Given the description of an element on the screen output the (x, y) to click on. 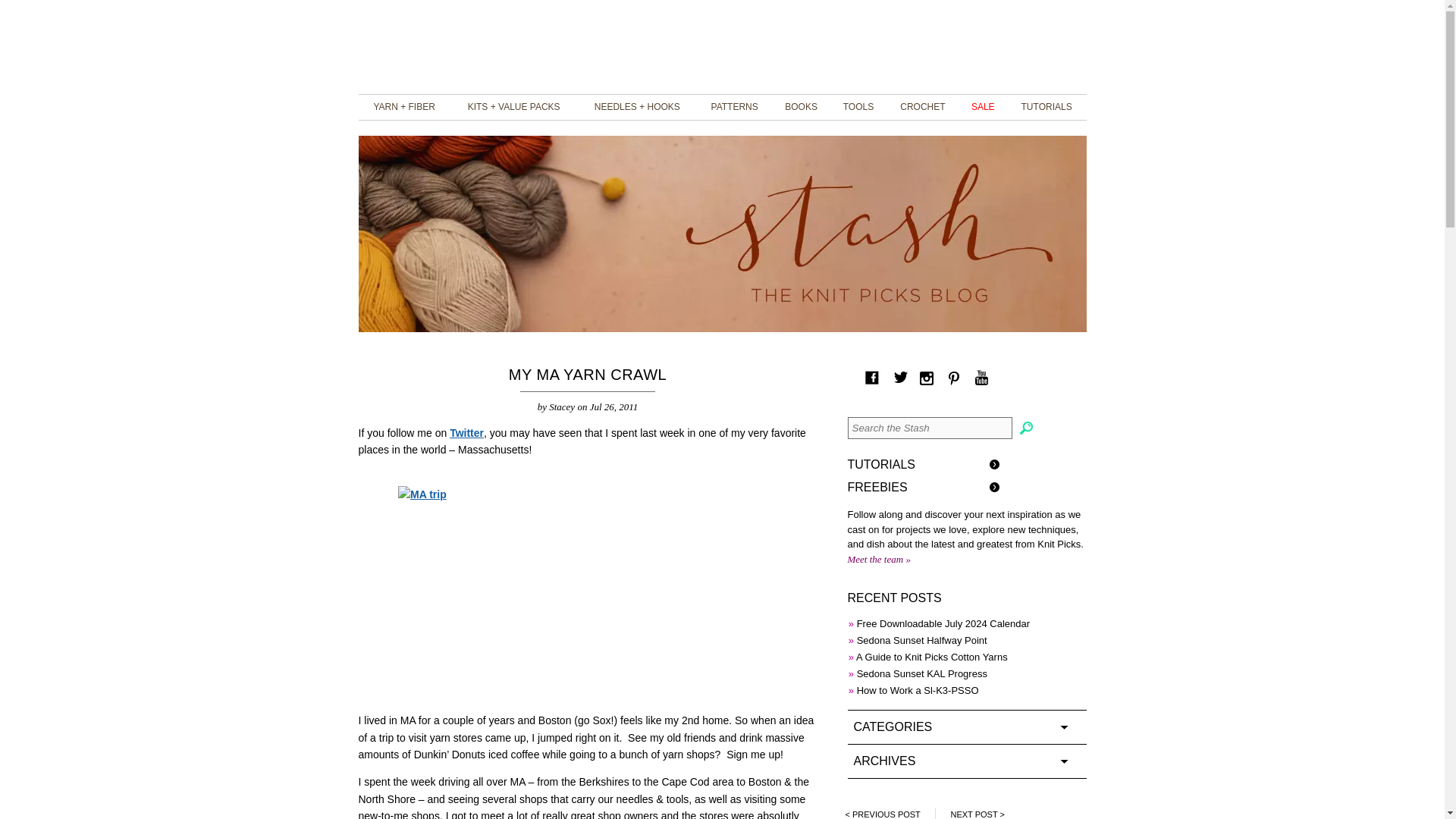
Knitting Needles and Crochet Hooks (637, 107)
TOOLS (858, 107)
The Knit Picks Staff Knitting Blog (722, 45)
Knitting Kits and Knitting Samplers (514, 107)
BOOKS (800, 107)
PATTERNS (734, 107)
Knitting Yarn and Knitting Kits (403, 107)
